Given the description of an element on the screen output the (x, y) to click on. 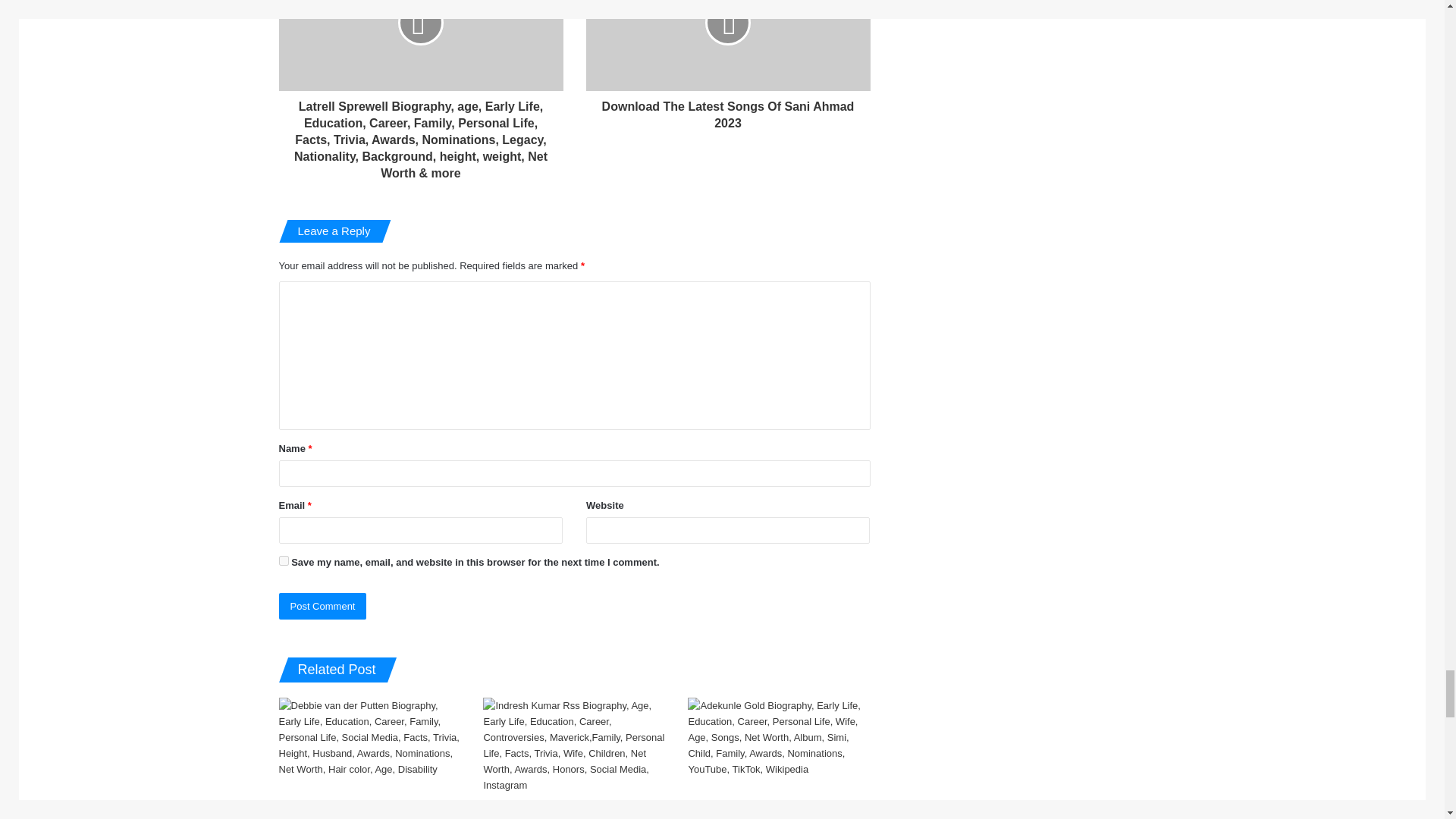
yes (283, 560)
Post Comment (322, 605)
